Given the description of an element on the screen output the (x, y) to click on. 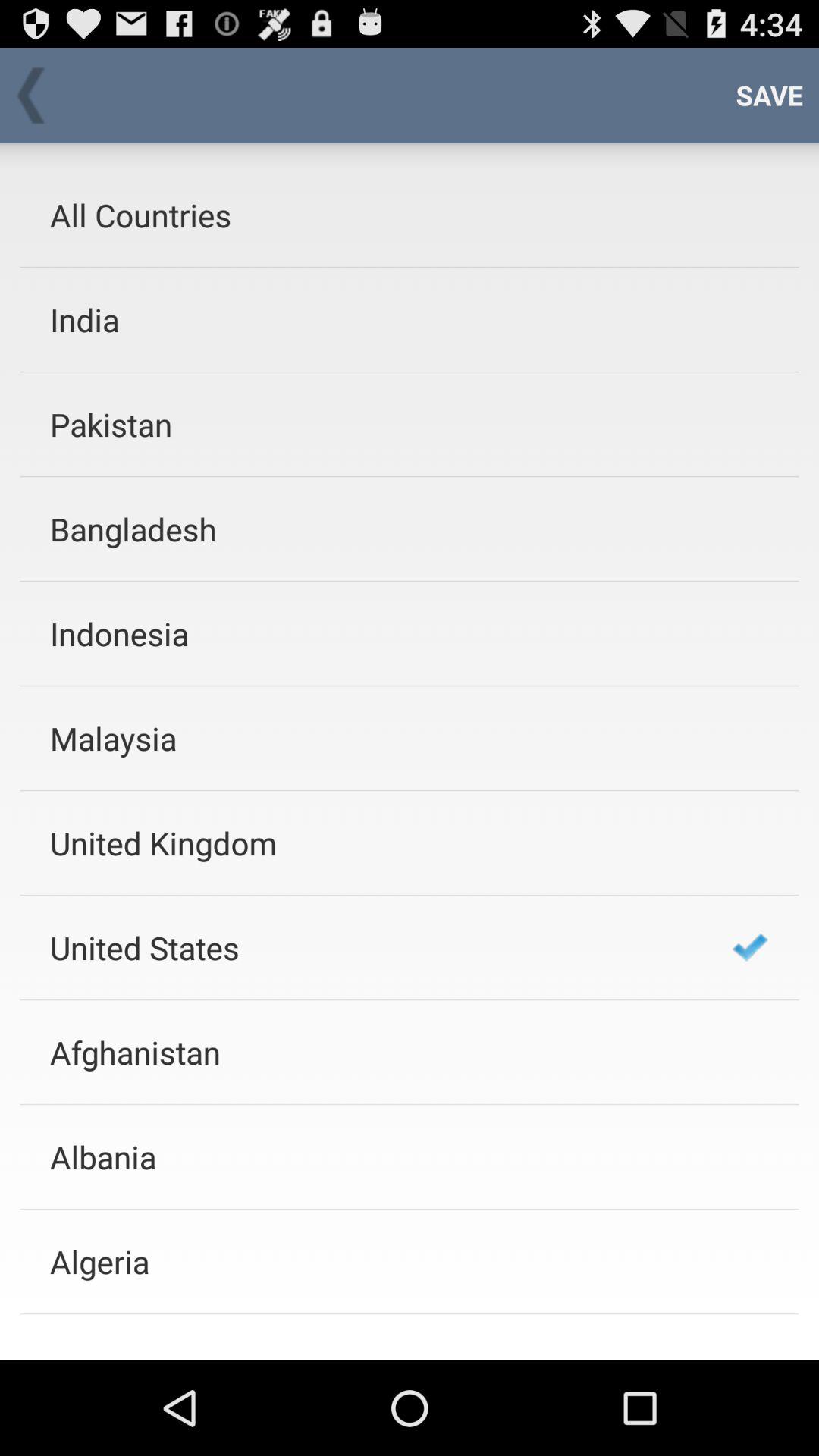
open united states (371, 947)
